Given the description of an element on the screen output the (x, y) to click on. 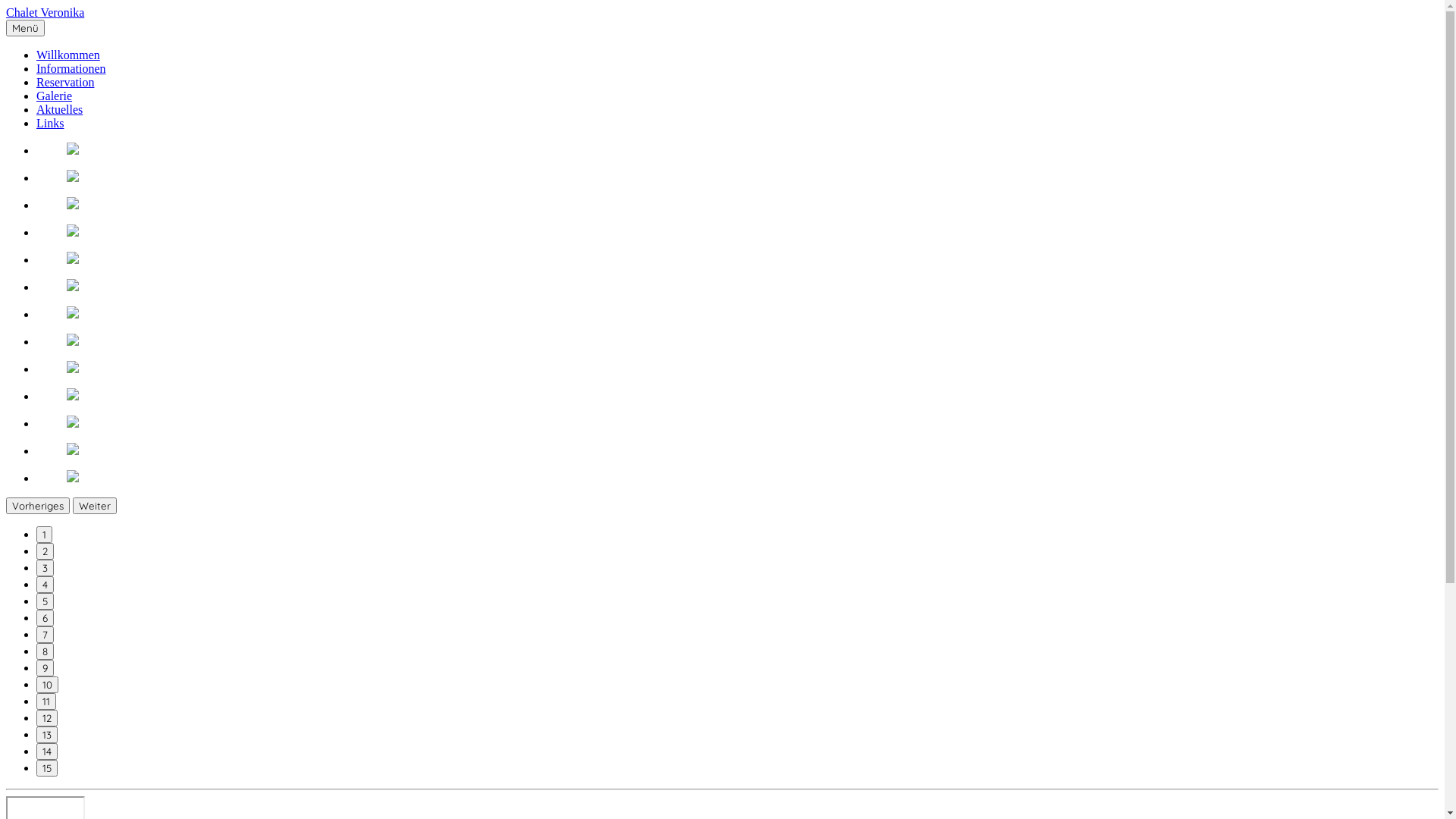
1 Element type: text (44, 588)
15 Element type: text (46, 795)
12 Element type: text (46, 772)
6 Element type: text (44, 672)
Vorheriges Element type: text (37, 560)
4 Element type: text (44, 638)
13 Element type: text (46, 761)
8 Element type: text (44, 705)
Willkommen Element type: text (68, 54)
Reservation Element type: text (65, 81)
11 Element type: text (46, 755)
Weiter Element type: text (94, 560)
5 Element type: text (44, 655)
9 Element type: text (44, 722)
Galerie Element type: text (54, 95)
14 Element type: text (46, 778)
7 Element type: text (44, 688)
10 Element type: text (47, 739)
3 Element type: text (44, 622)
Links Element type: text (49, 122)
Informationen Element type: text (71, 68)
Aktuelles Element type: text (59, 109)
Chalet Veronika Element type: text (45, 12)
2 Element type: text (44, 605)
